Given the description of an element on the screen output the (x, y) to click on. 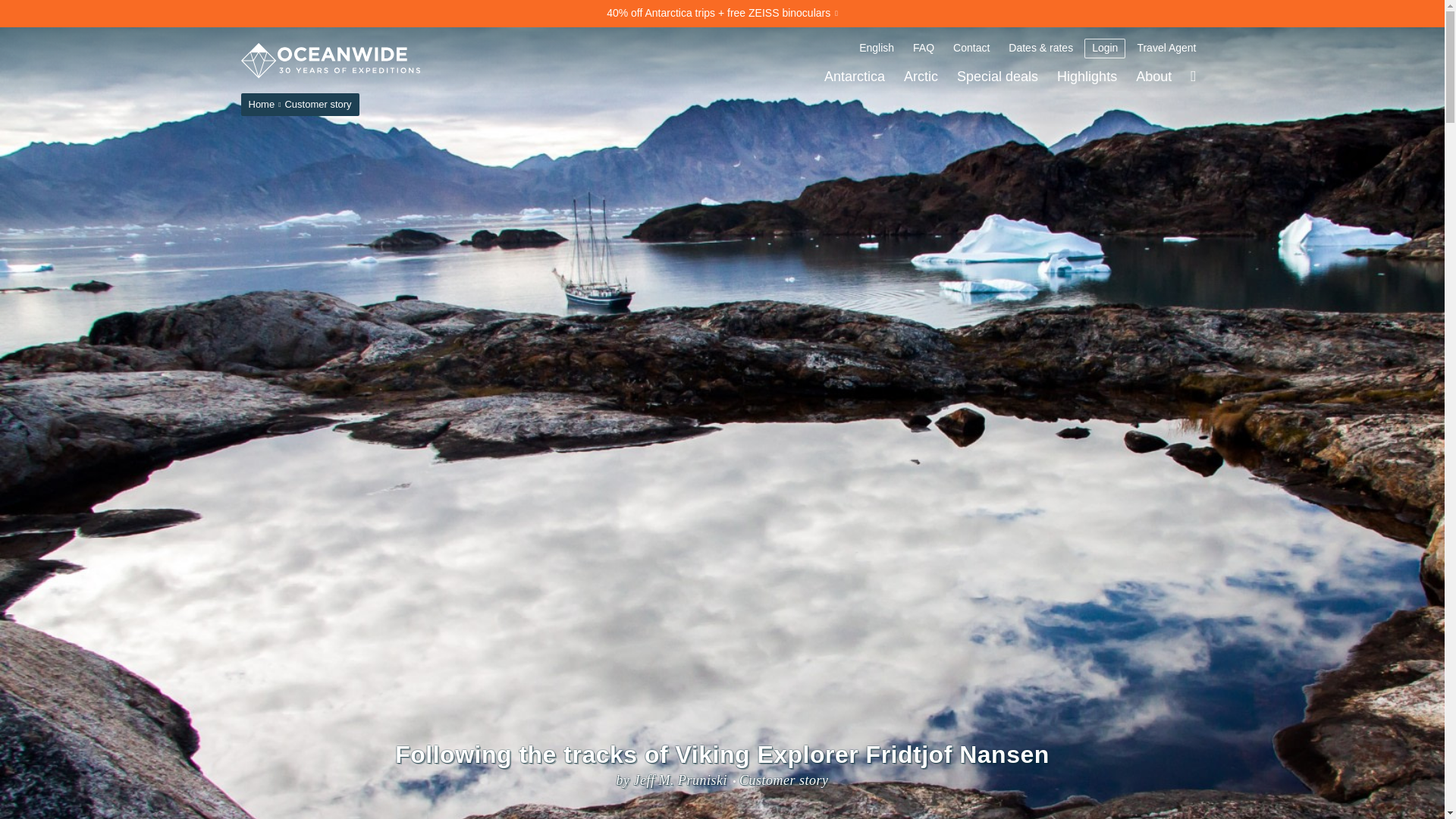
Arctic (920, 76)
Contact (970, 48)
Special deals (997, 76)
English (876, 48)
Oceanwide Expeditions (330, 60)
Login (1104, 48)
Travel Agent (1166, 48)
FAQ (923, 48)
Highlights (1086, 76)
Antarctica (854, 76)
